Given the description of an element on the screen output the (x, y) to click on. 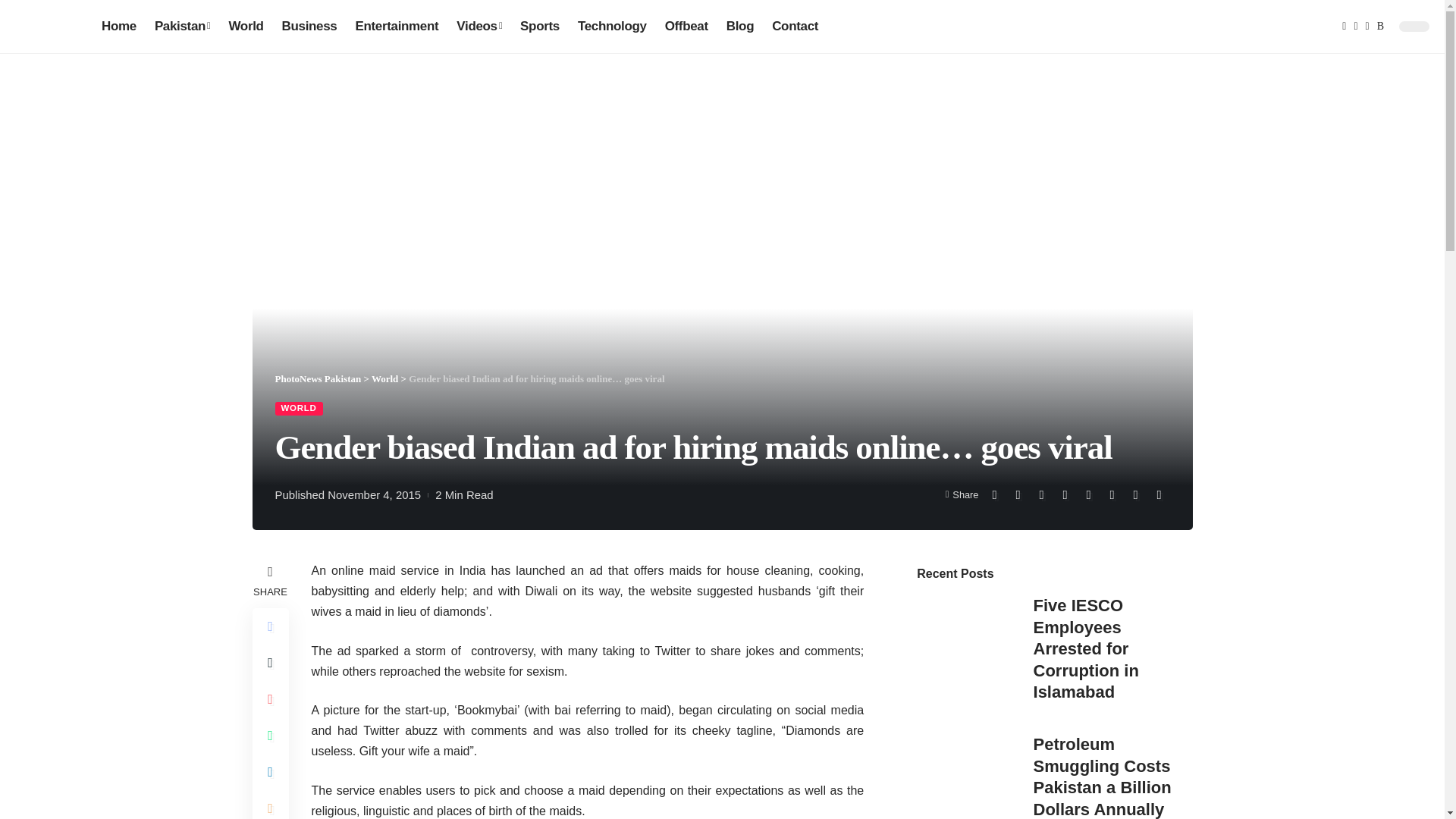
Home (119, 26)
Offbeat (686, 26)
Contact (794, 26)
Business (309, 26)
Videos (478, 26)
Sports (540, 26)
Entertainment (396, 26)
Blog (739, 26)
World (245, 26)
